Given the description of an element on the screen output the (x, y) to click on. 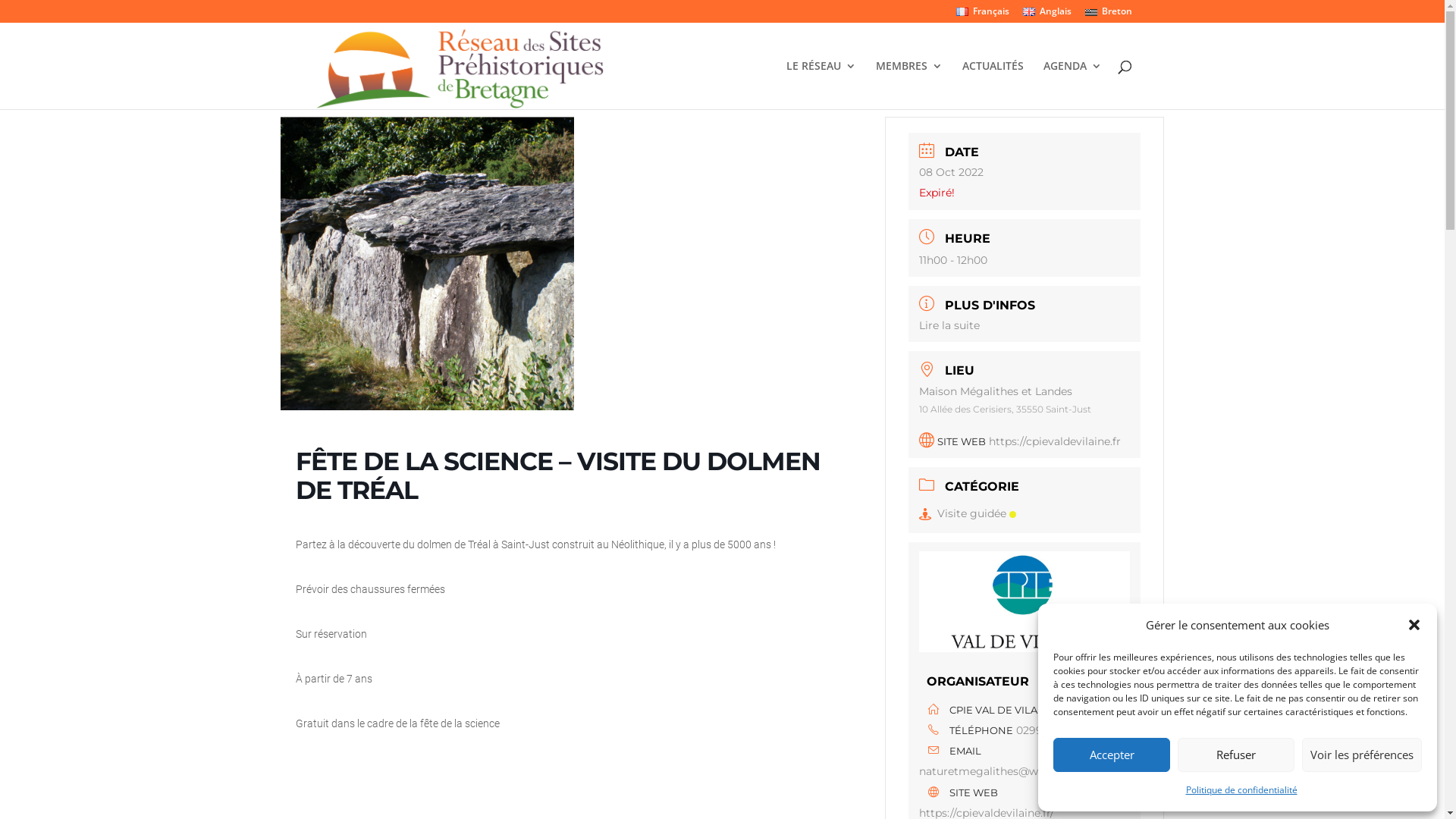
0299726925 Element type: text (1048, 730)
Lire la suite Element type: text (949, 325)
MEMBRES Element type: text (908, 84)
naturetmegalithes@wanadoo.fr Element type: text (1024, 771)
Breton Element type: text (1107, 14)
AGENDA Element type: text (1072, 84)
Anglais Element type: text (1046, 14)
Accepter Element type: text (1111, 754)
Refuser Element type: text (1235, 754)
https://cpievaldevilaine.fr Element type: text (1054, 441)
